Given the description of an element on the screen output the (x, y) to click on. 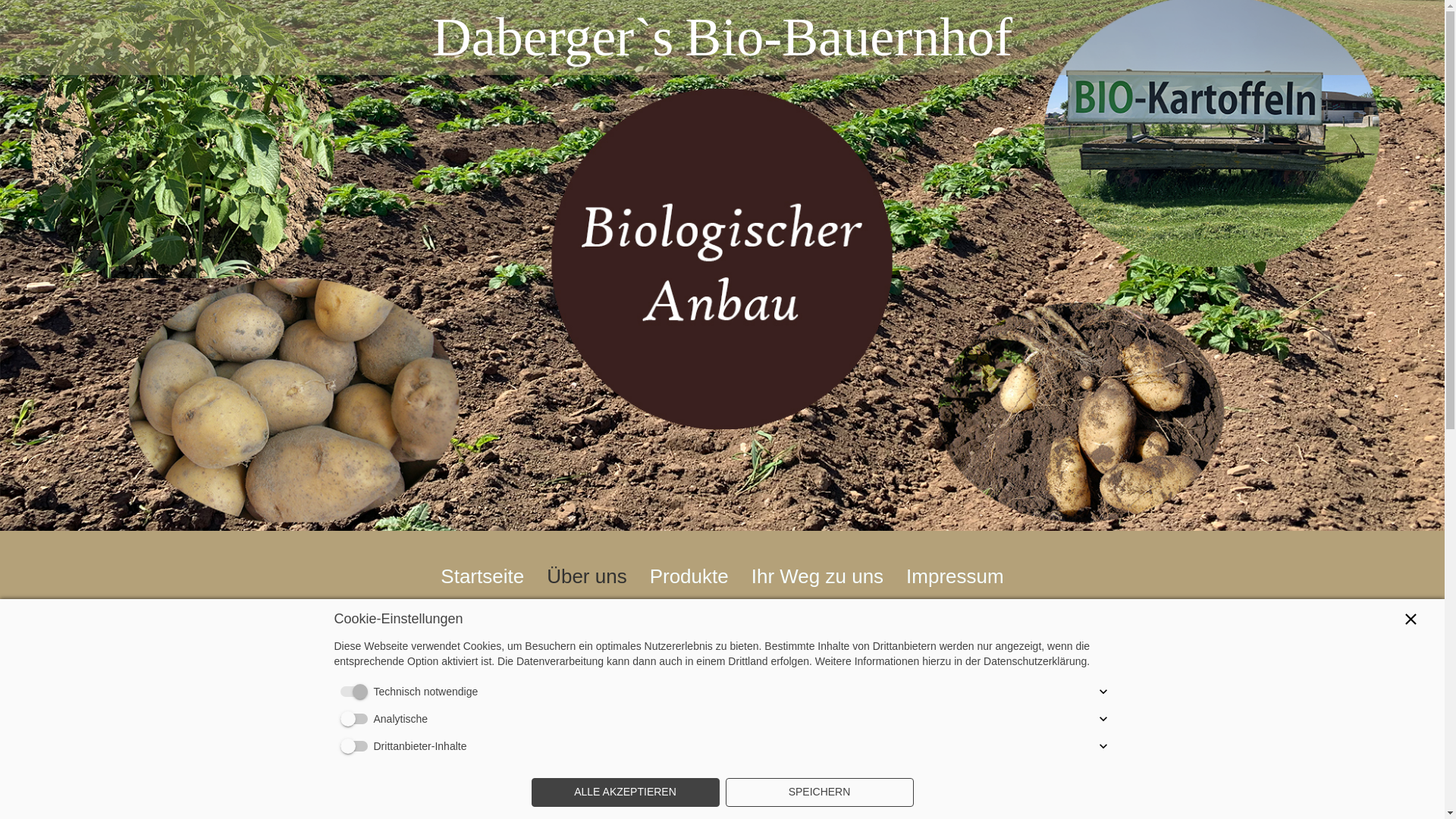
SPEICHERN Element type: text (818, 792)
Impressum Element type: text (954, 575)
ALLE AKZEPTIEREN Element type: text (624, 792)
Startseite Element type: text (482, 575)
Ihr Weg zu uns Element type: text (817, 575)
Produkte Element type: text (689, 575)
